Given the description of an element on the screen output the (x, y) to click on. 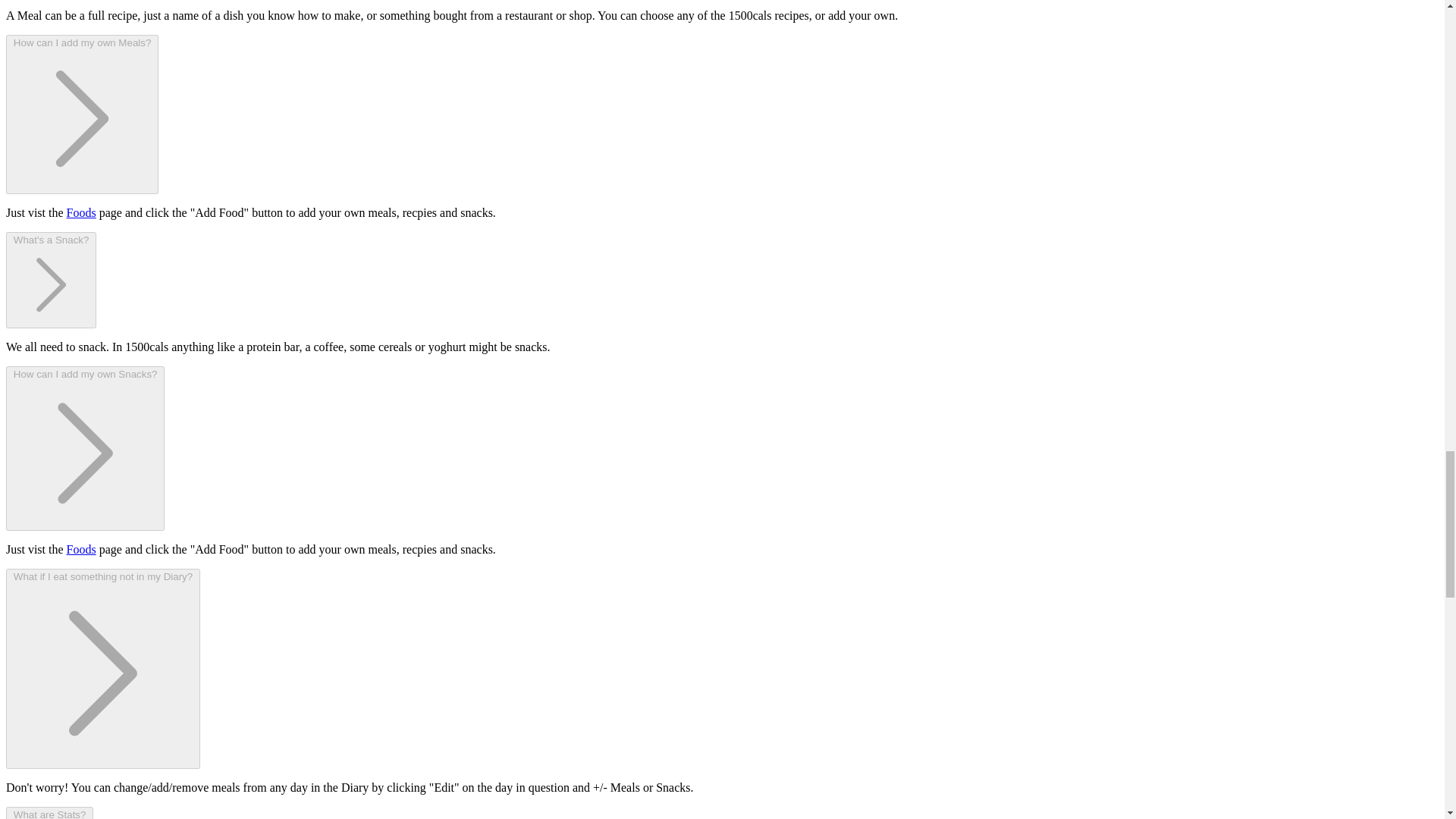
What's a Snack? (50, 279)
Foods (81, 549)
How can I add my own Snacks? (84, 448)
Foods (81, 212)
How can I add my own Meals? (81, 114)
What are Stats? (49, 812)
What if I eat something not in my Diary? (102, 668)
